Given the description of an element on the screen output the (x, y) to click on. 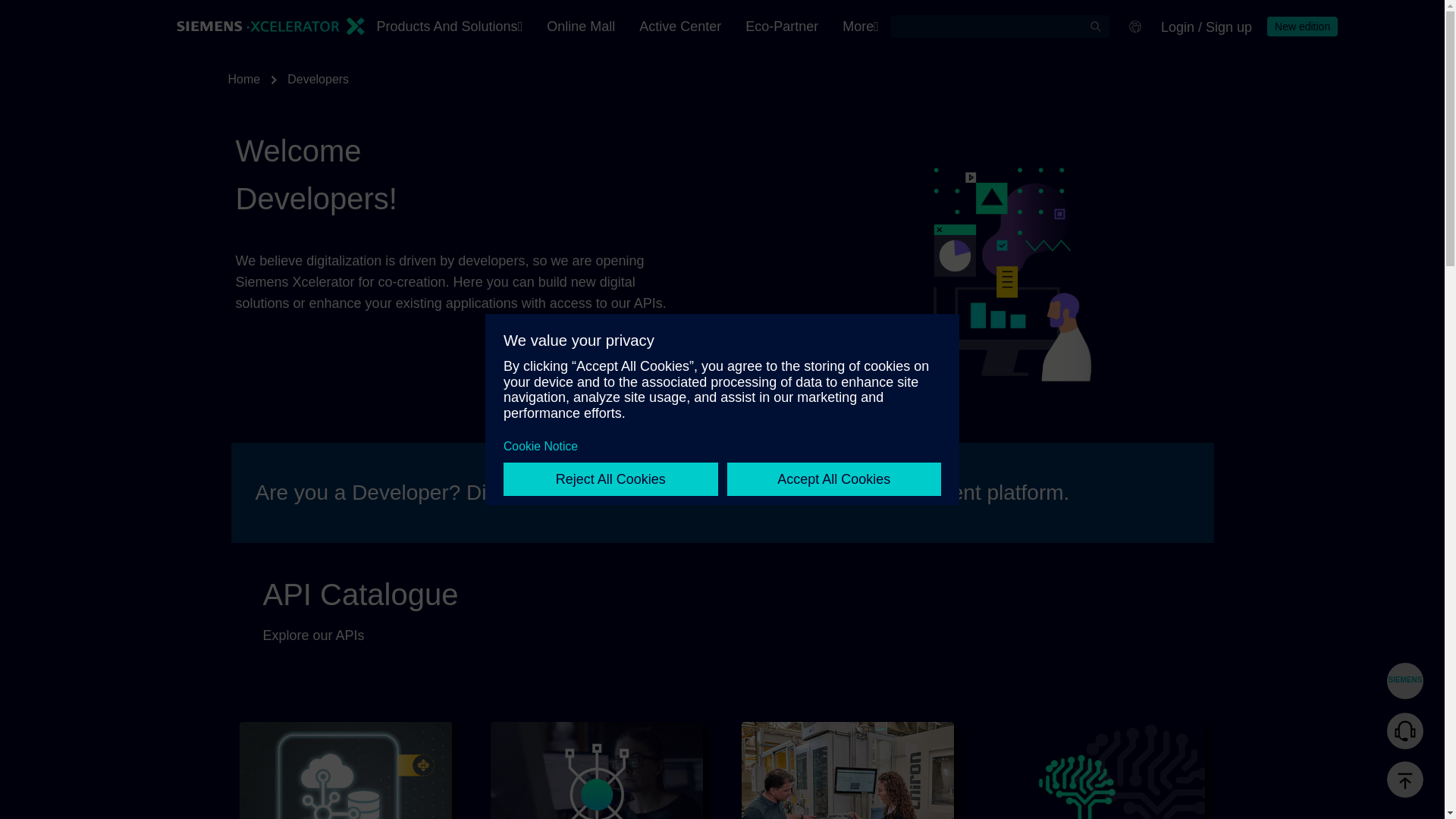
Home (243, 78)
